Given the description of an element on the screen output the (x, y) to click on. 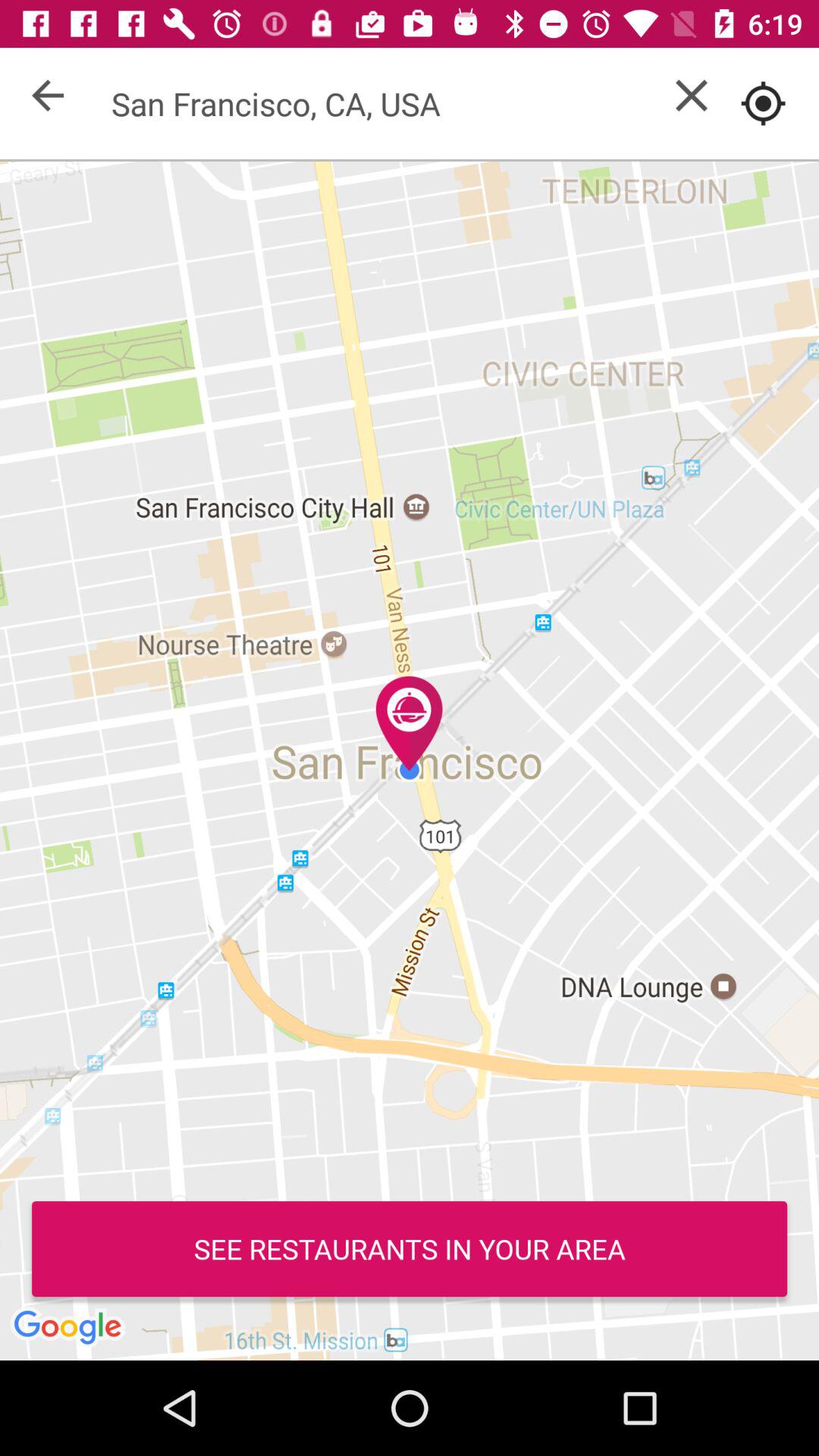
go back (47, 95)
